Given the description of an element on the screen output the (x, y) to click on. 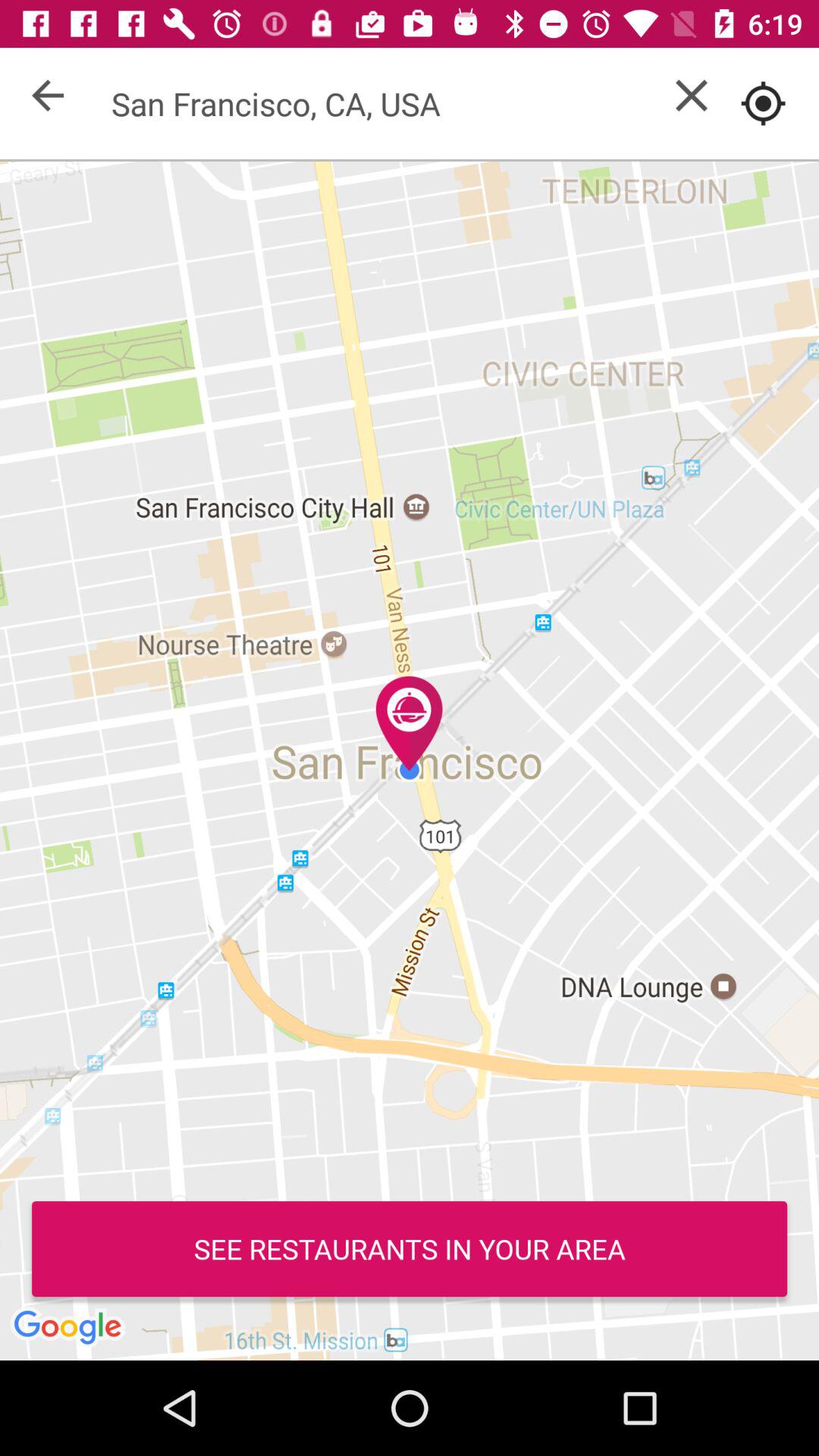
go back (47, 95)
